Given the description of an element on the screen output the (x, y) to click on. 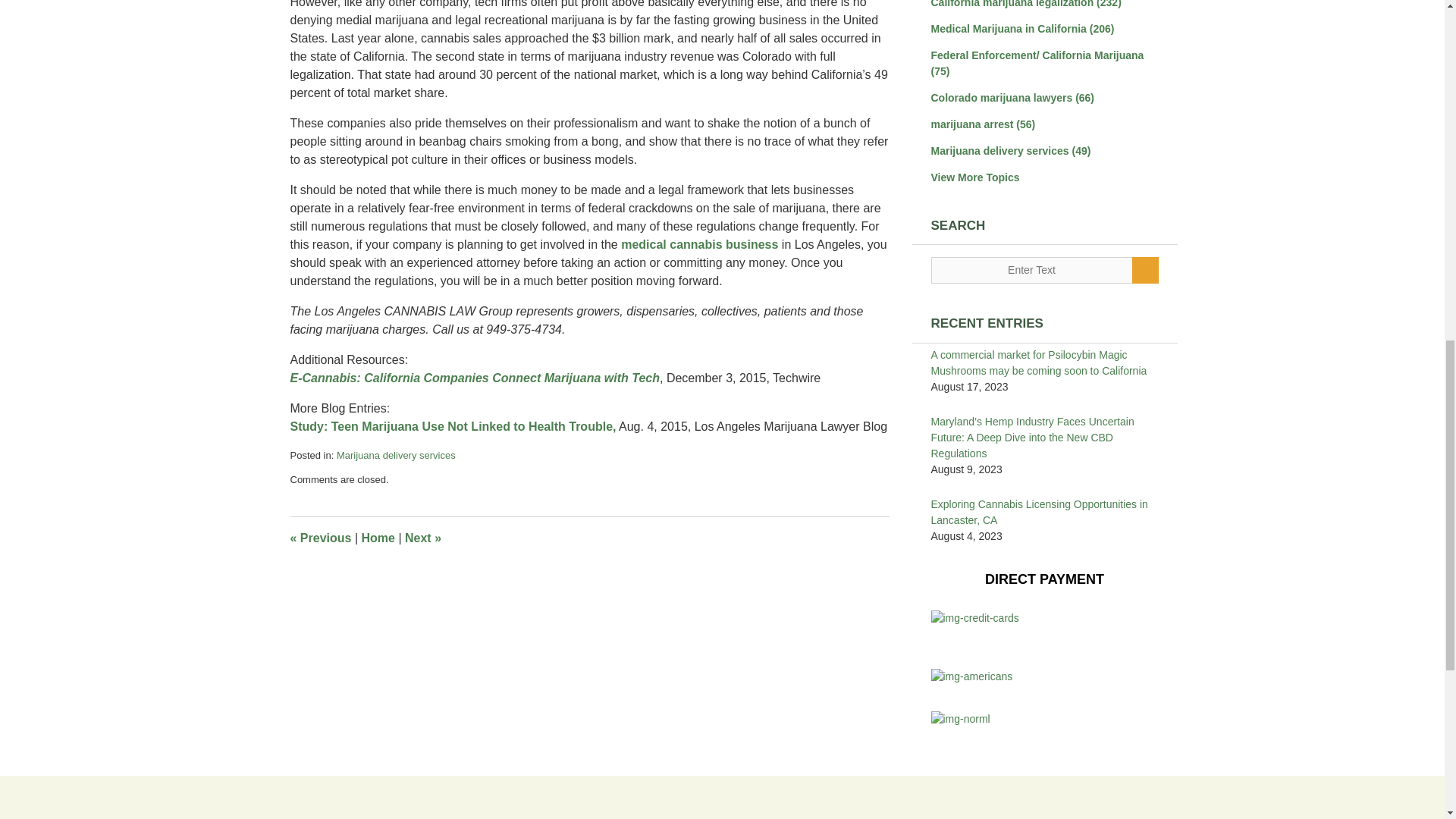
Marijuana delivery services (395, 455)
View all posts in Marijuana delivery services (395, 455)
medical cannabis business (699, 244)
Study: Teen Marijuana Use Not Linked to Health Trouble, (452, 426)
E-Cannabis: California Companies Connect Marijuana with Tech (474, 377)
